Given the description of an element on the screen output the (x, y) to click on. 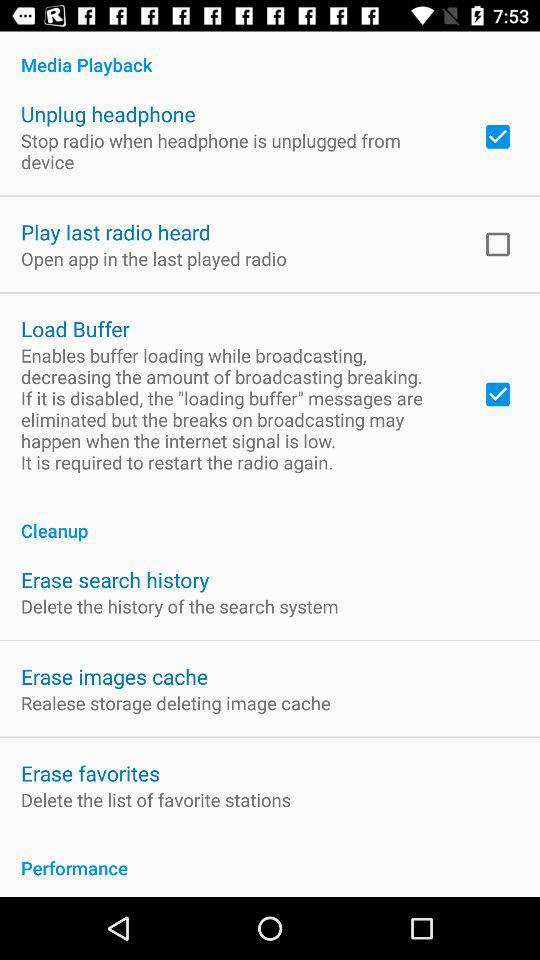
open the app below load buffer app (238, 408)
